Given the description of an element on the screen output the (x, y) to click on. 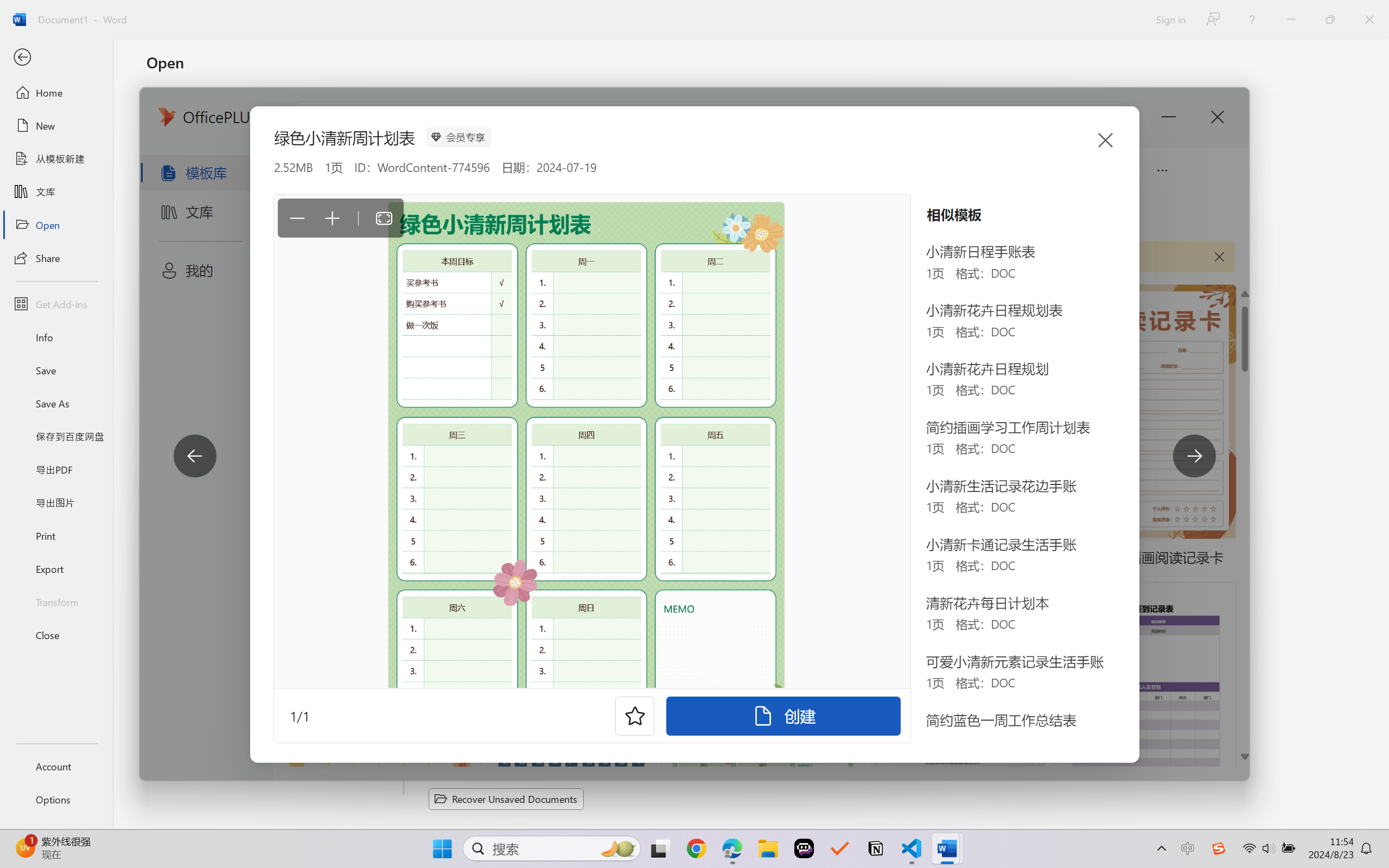
Save As (56, 403)
Transform (56, 601)
